Given the description of an element on the screen output the (x, y) to click on. 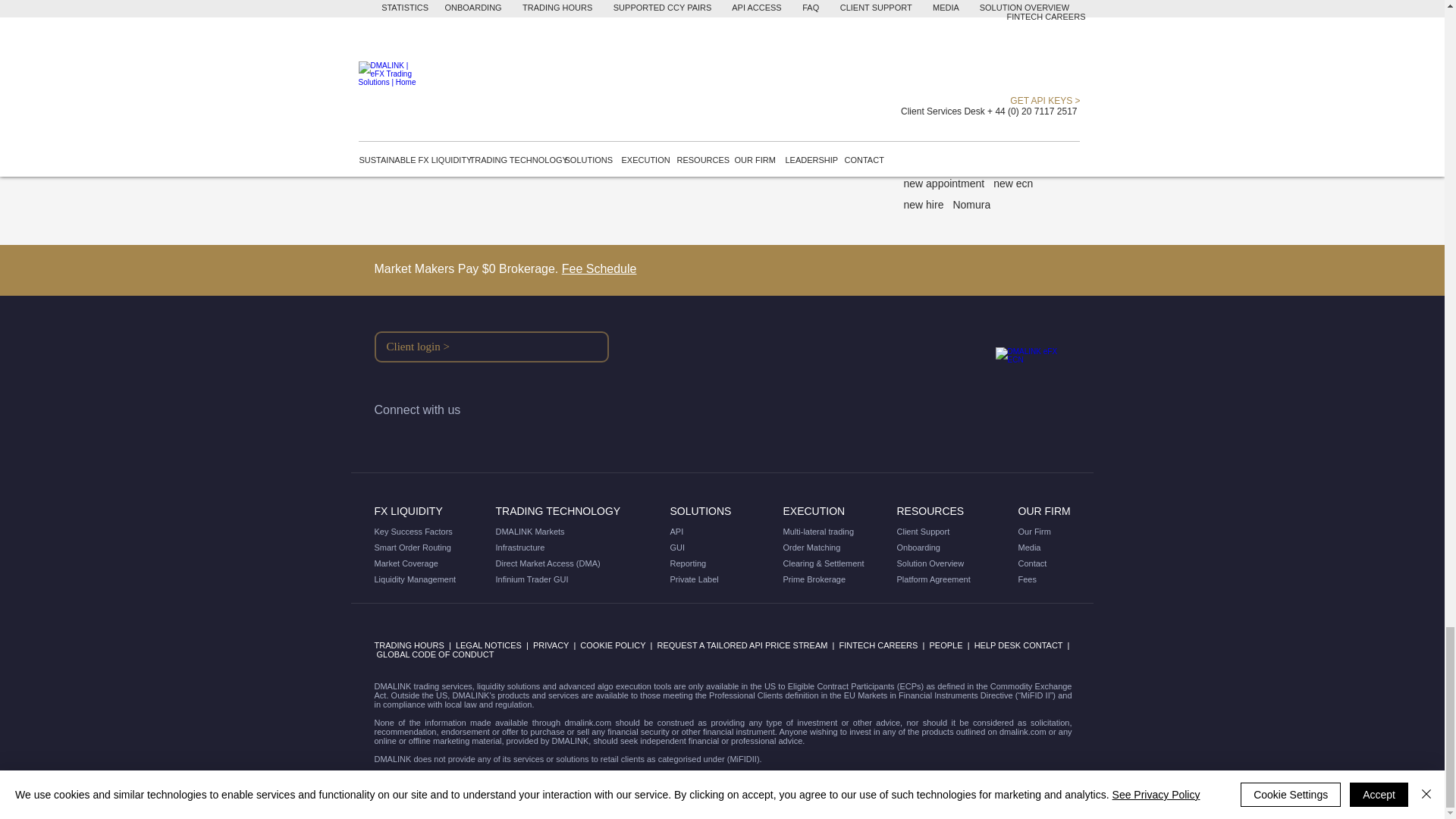
DMALINK (1028, 381)
